Given the description of an element on the screen output the (x, y) to click on. 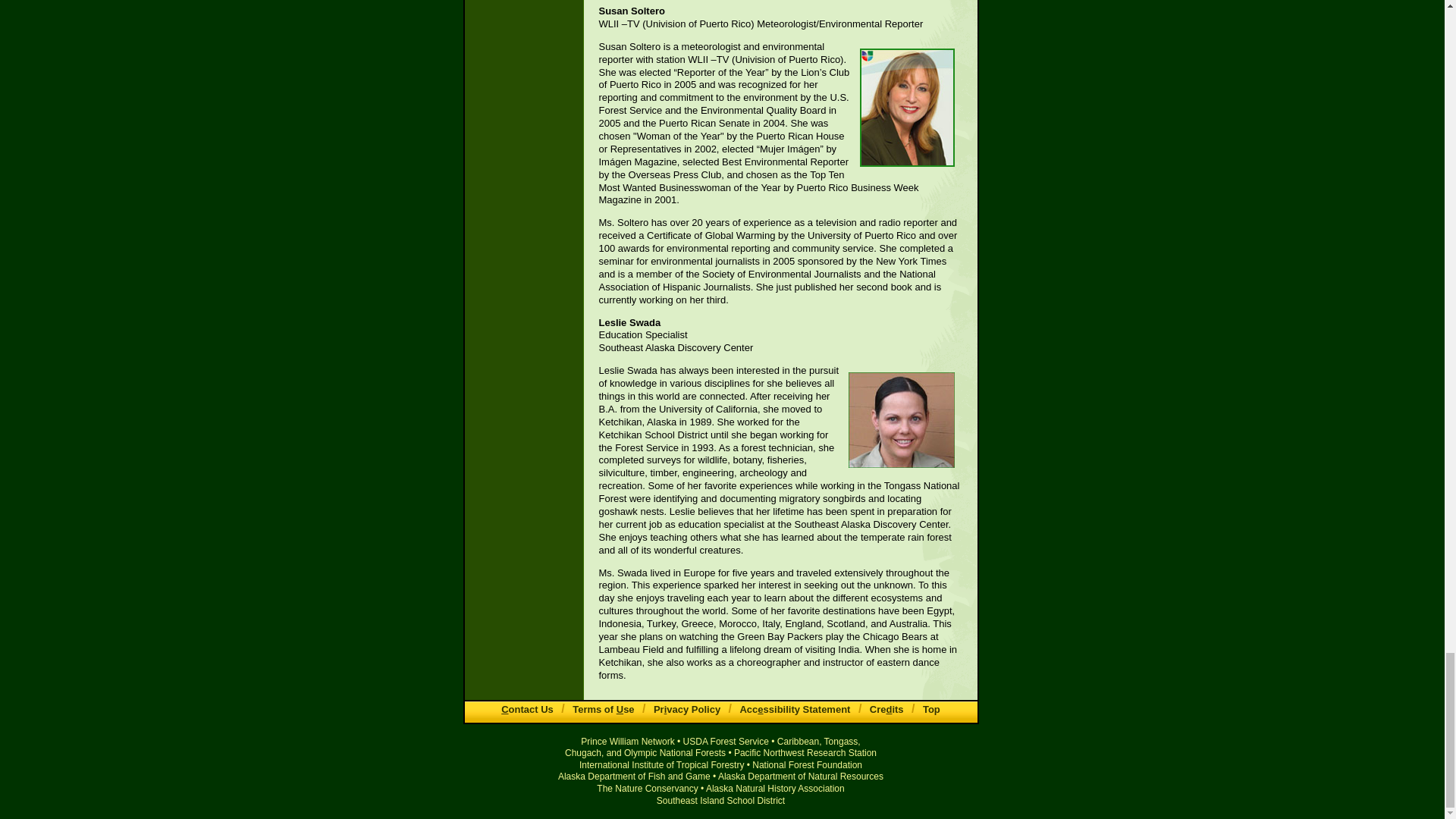
Top (931, 707)
Accessibility Statement (794, 707)
Privacy Policy (687, 707)
Terms of Use (603, 707)
Contact Us (526, 707)
Access key: 0 (931, 707)
Credits (886, 707)
